Given the description of an element on the screen output the (x, y) to click on. 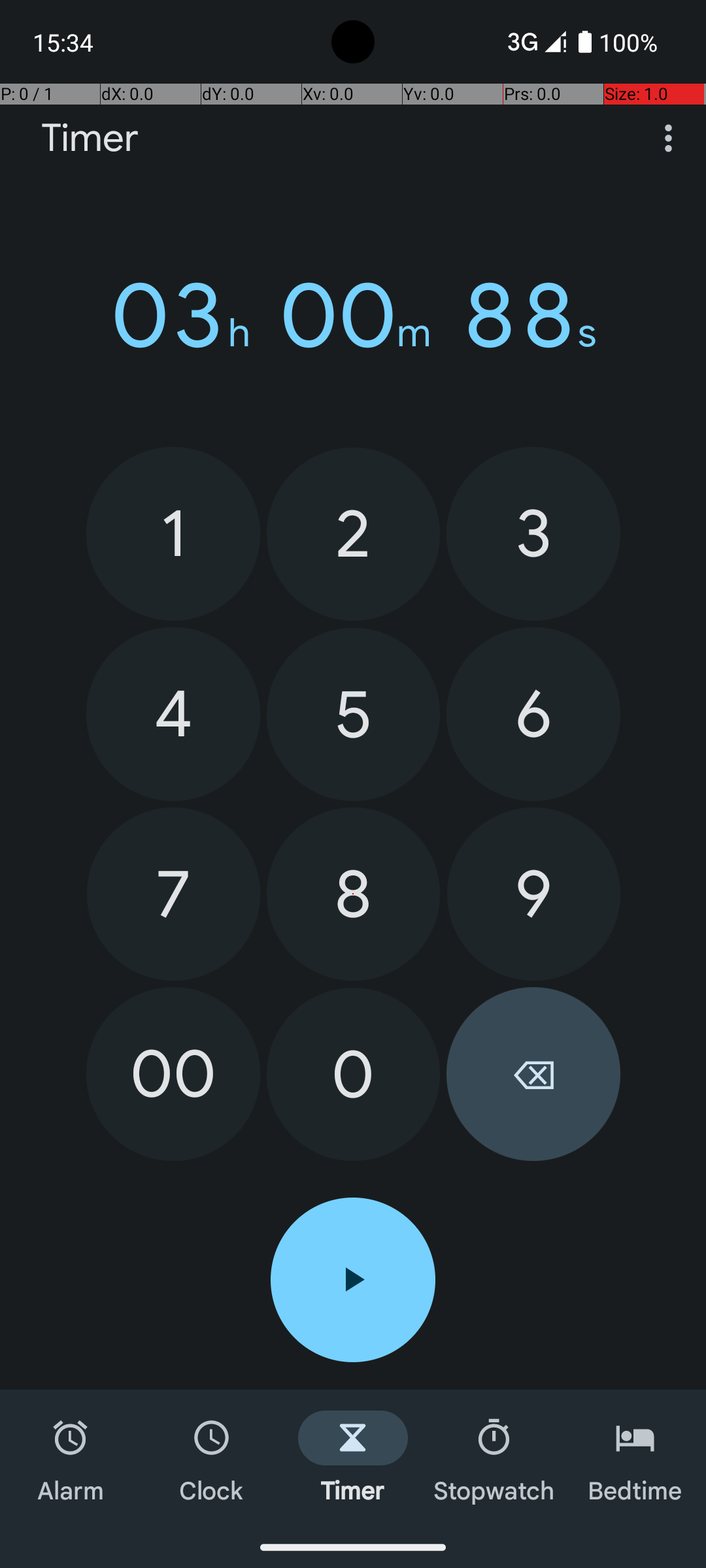
03h 00m 88s Element type: android.widget.TextView (353, 315)
